Given the description of an element on the screen output the (x, y) to click on. 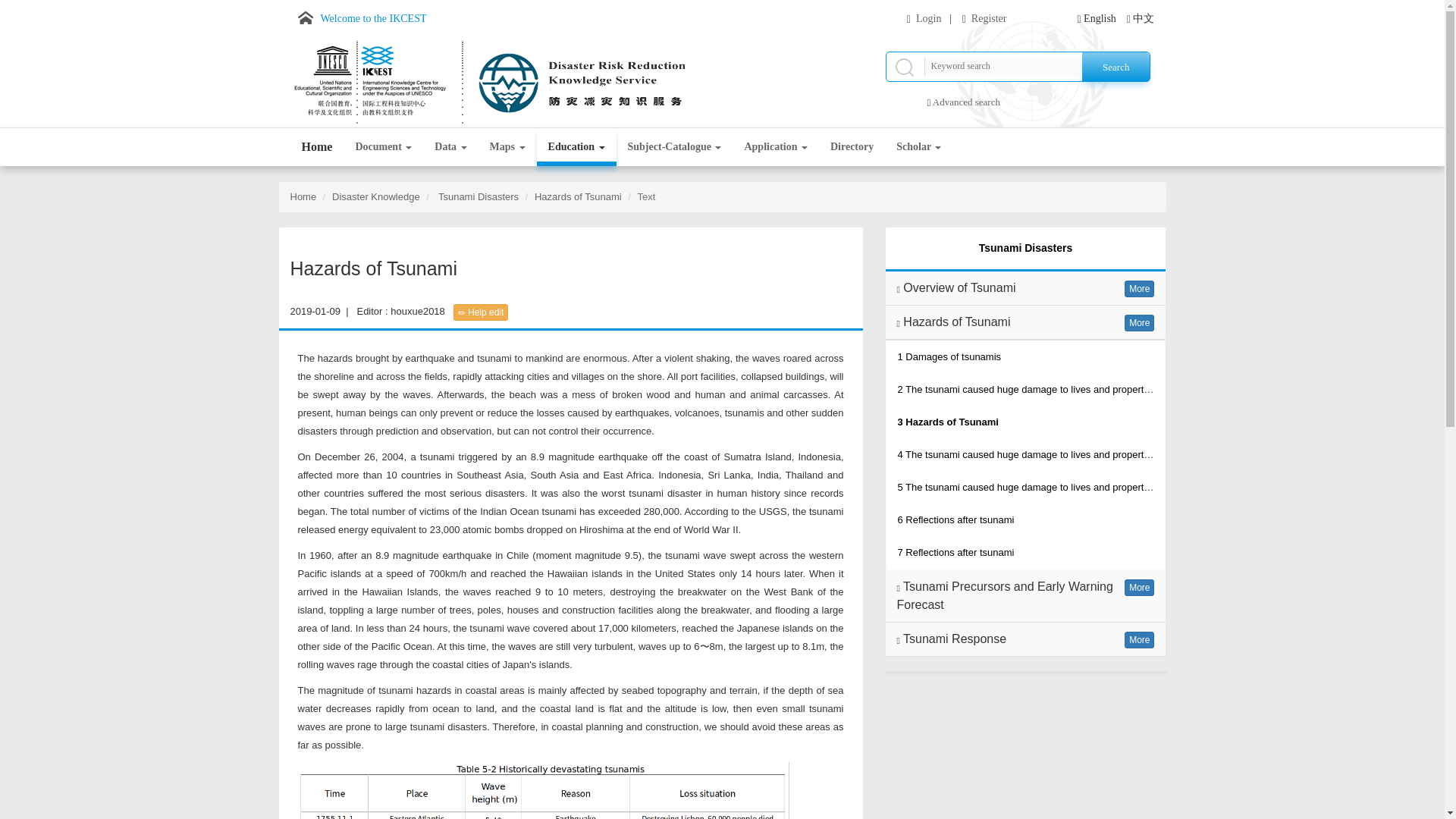
Search (1115, 66)
Data (450, 146)
Home (316, 146)
Register (989, 18)
Advanced search (966, 101)
Document (383, 146)
Register (989, 18)
Document (383, 146)
Education (576, 146)
Welcome to the IKCEST (357, 18)
Maps (508, 146)
Document (450, 146)
Login (927, 18)
Login (927, 18)
